Given the description of an element on the screen output the (x, y) to click on. 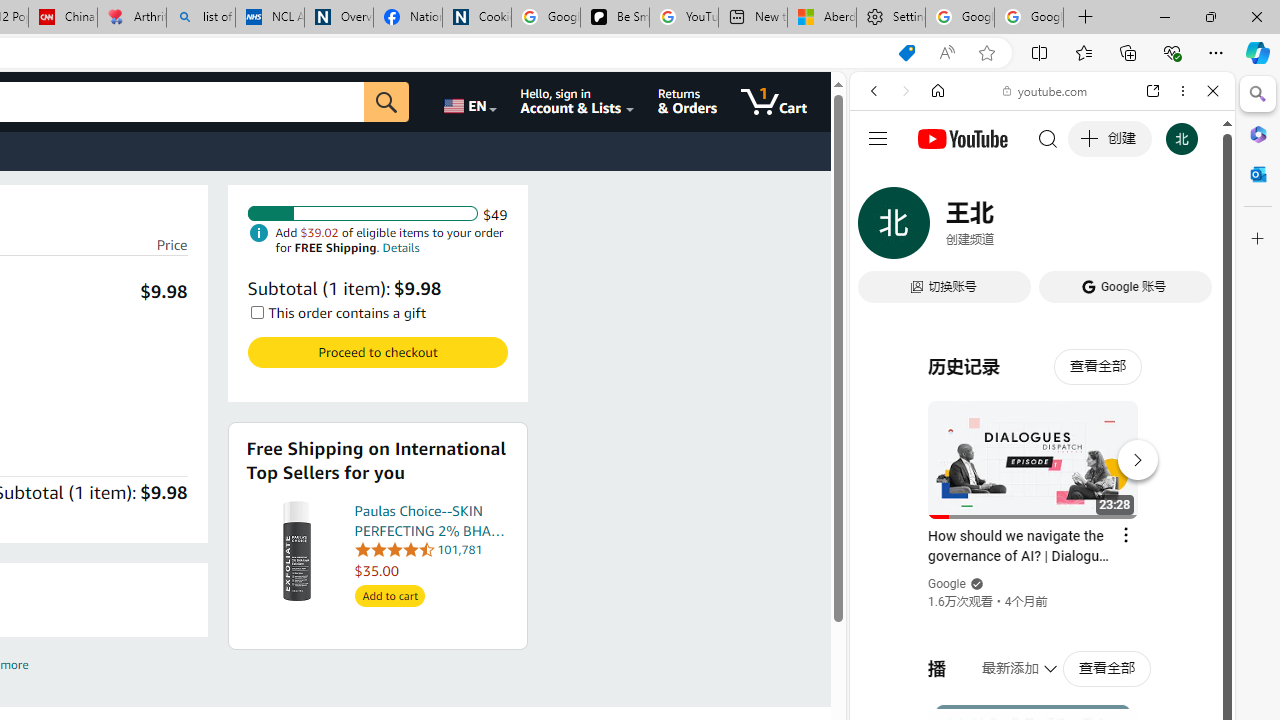
Hello, sign in Account & Lists (576, 101)
